Given the description of an element on the screen output the (x, y) to click on. 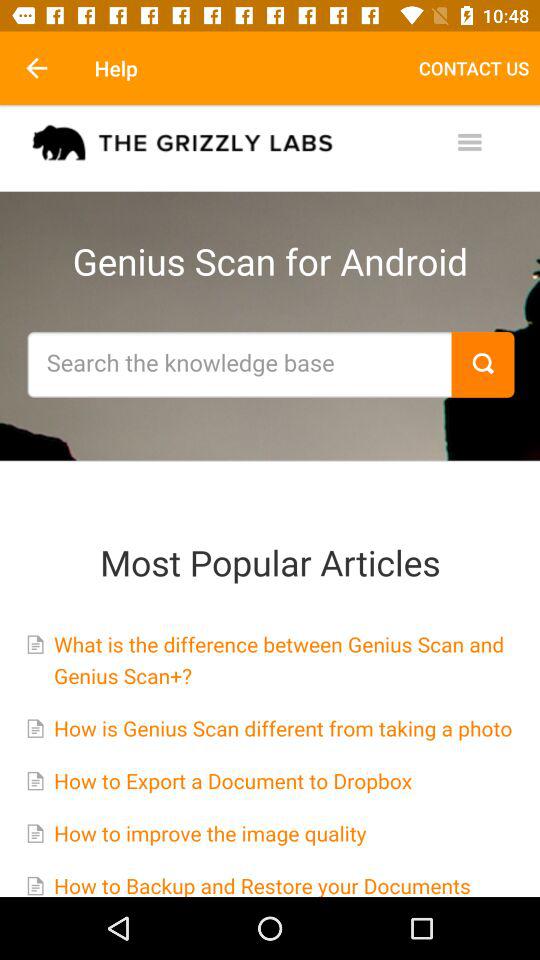
swipe until the contact us item (474, 67)
